Given the description of an element on the screen output the (x, y) to click on. 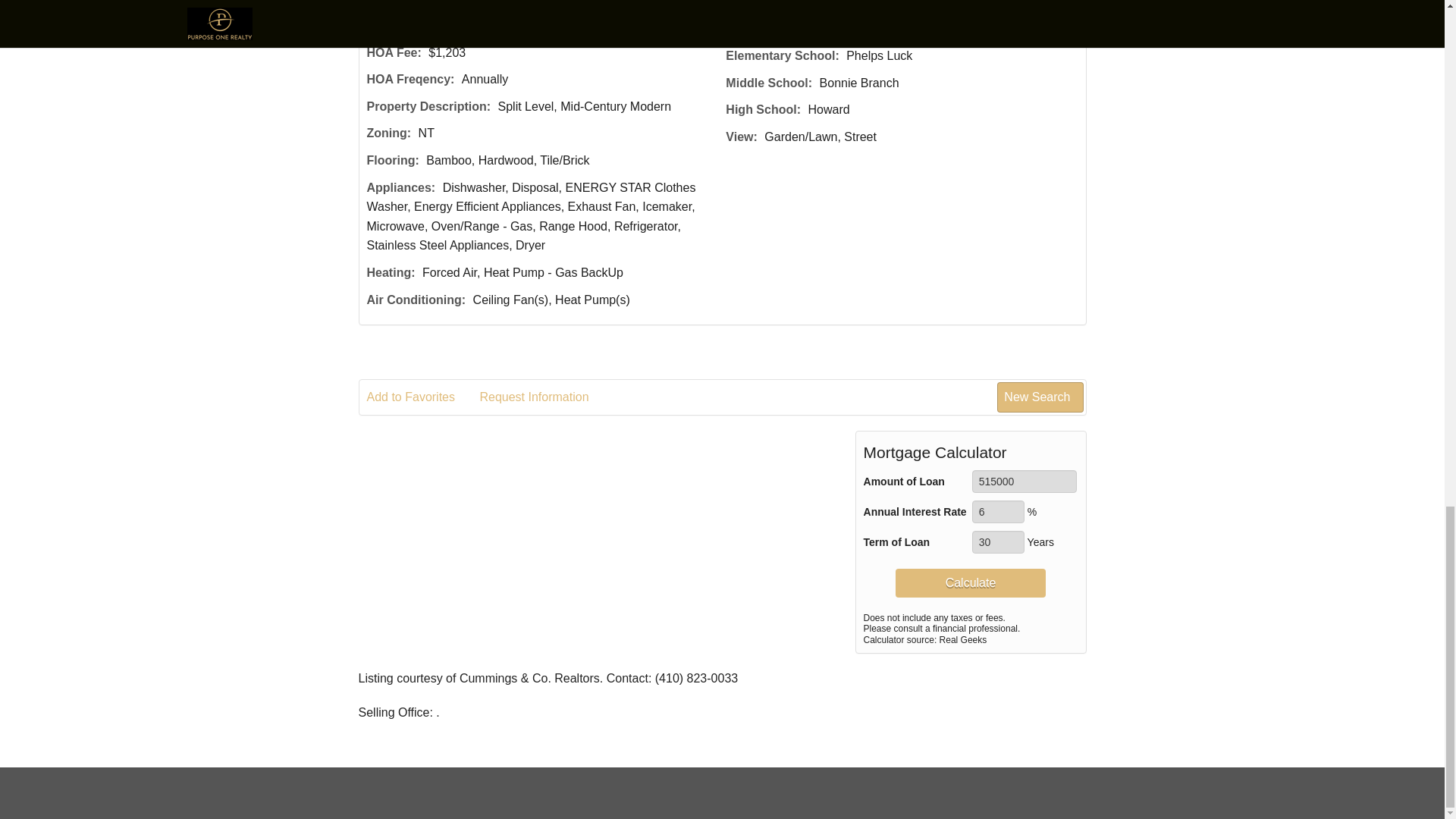
6 (998, 511)
515000 (1024, 481)
30 (998, 541)
